Given the description of an element on the screen output the (x, y) to click on. 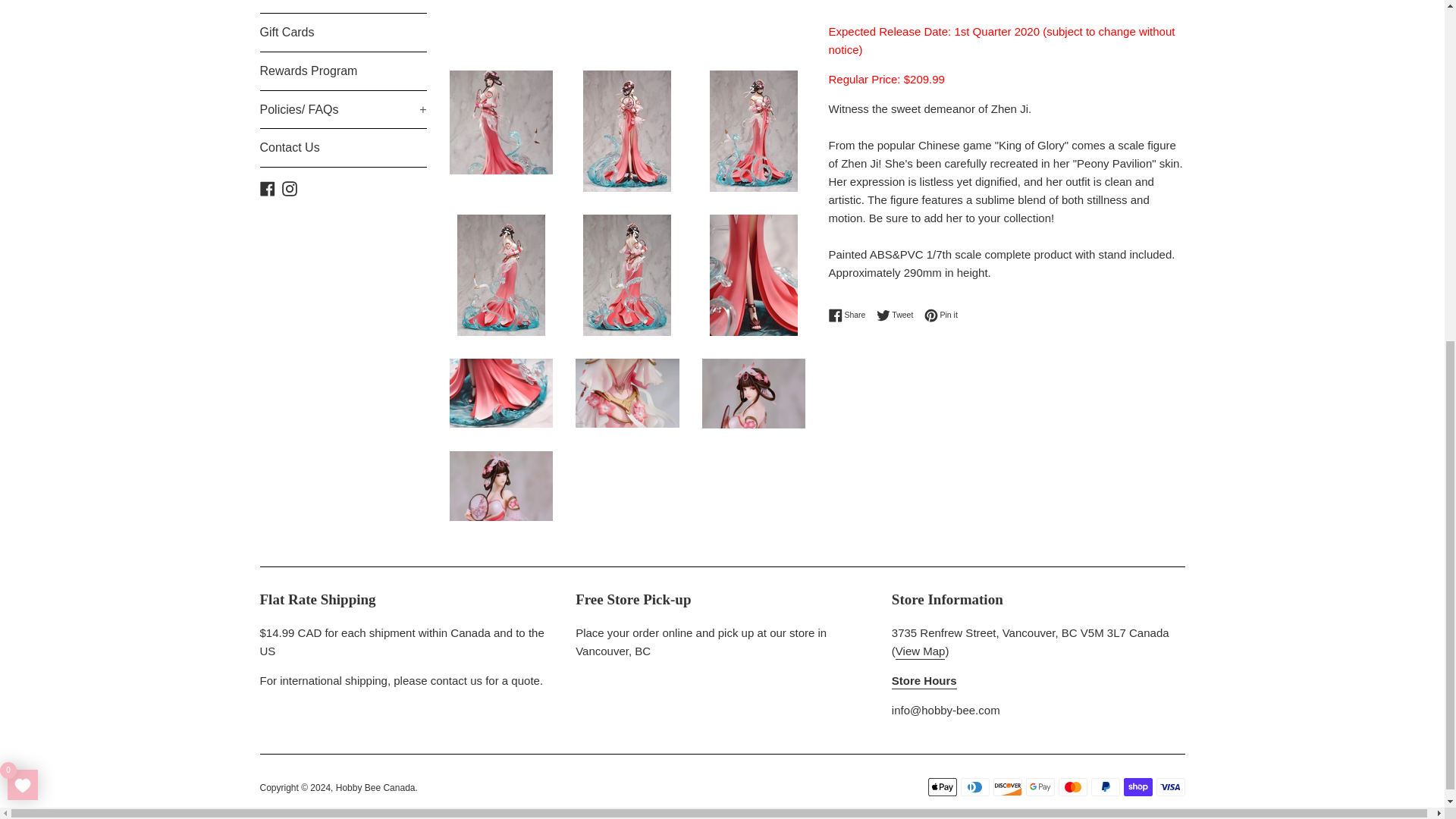
Tweet on Twitter (898, 315)
Google Pay (1039, 787)
Discover (1007, 787)
Share on Facebook (850, 315)
Hobby Bee Canada on Facebook (267, 187)
Hobby Bee Canada on Instagram (289, 187)
Pin on Pinterest (941, 315)
Visa (1170, 787)
Apple Pay (942, 787)
Mastercard (1072, 787)
